Given the description of an element on the screen output the (x, y) to click on. 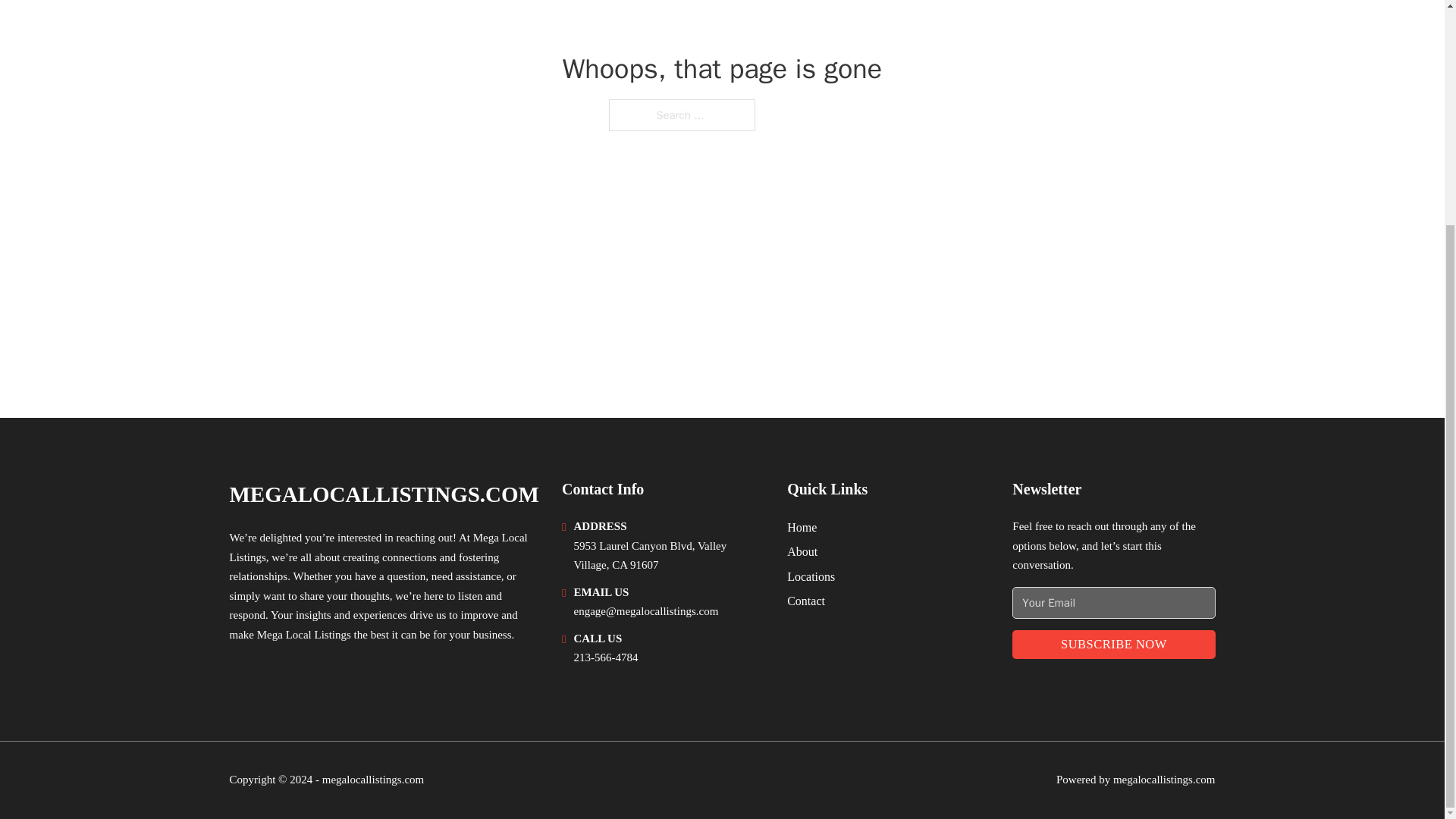
SUBSCRIBE NOW (1112, 644)
Locations (810, 576)
Contact (806, 600)
About (801, 551)
Home (801, 526)
213-566-4784 (605, 657)
MEGALOCALLISTINGS.COM (383, 494)
